Given the description of an element on the screen output the (x, y) to click on. 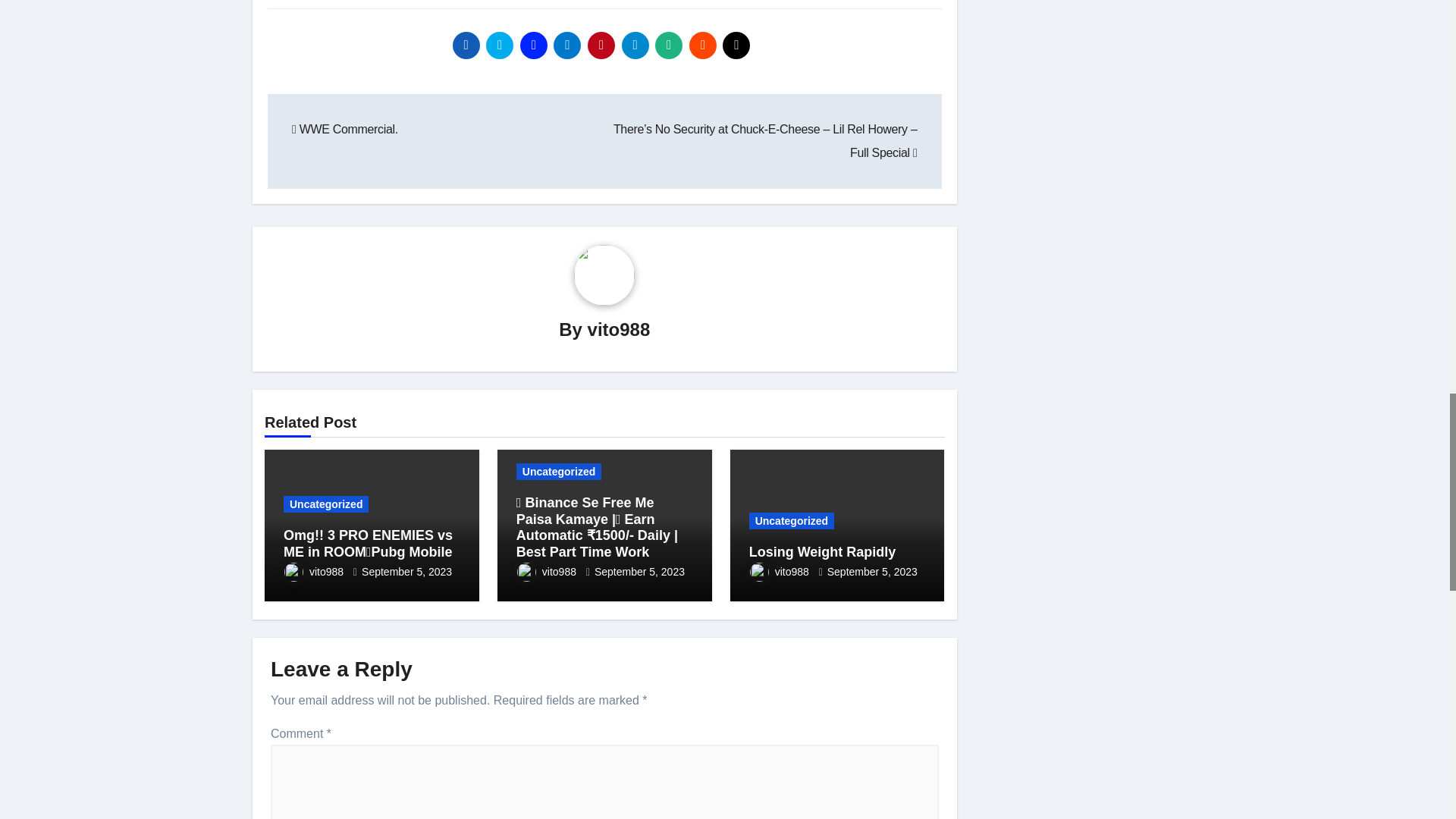
Permalink to: Losing Weight Rapidly (822, 551)
